Given the description of an element on the screen output the (x, y) to click on. 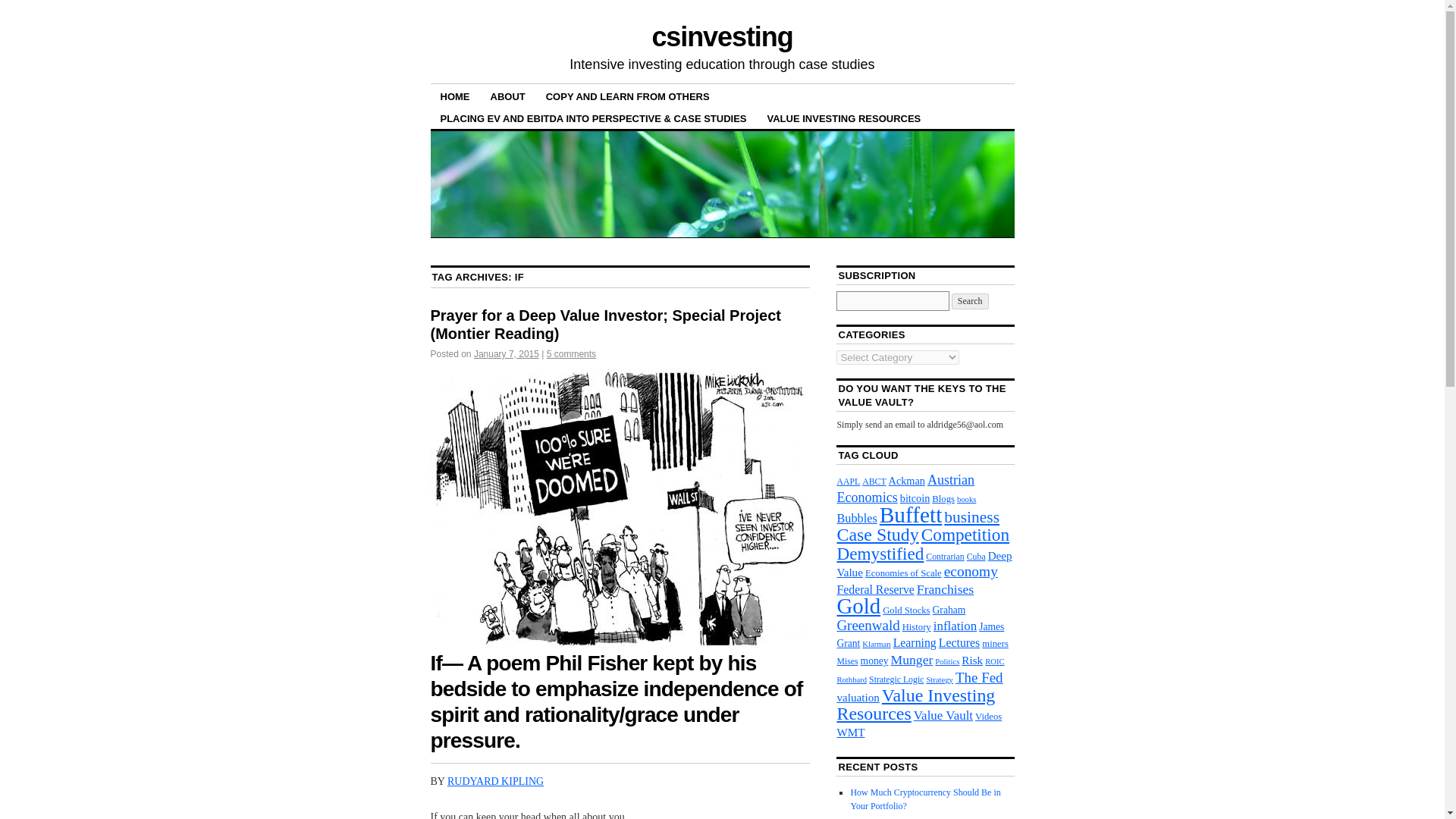
10:31 am (506, 353)
Blogs (943, 498)
Franchises (945, 589)
Search (970, 301)
bitcoin (914, 498)
ABCT (873, 480)
csinvesting (721, 36)
economy (970, 571)
Gold Stocks (906, 610)
5 comments (571, 353)
Federal Reserve (874, 589)
Gold (857, 605)
AAPL (847, 480)
HOME (455, 96)
ABOUT (507, 96)
